Given the description of an element on the screen output the (x, y) to click on. 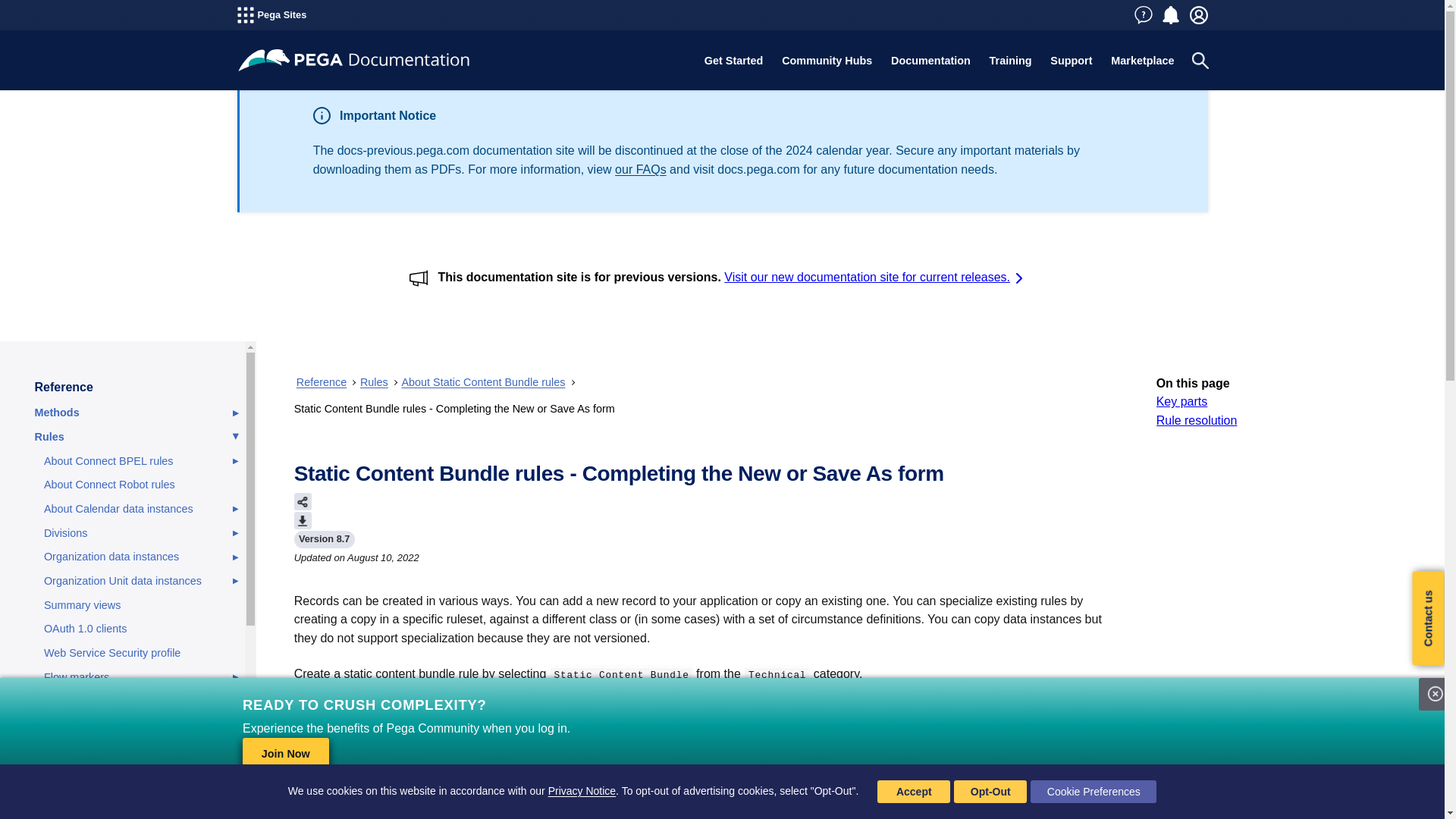
Get Started (732, 60)
Community Hubs (827, 60)
Toggle Search Panel (1200, 60)
